Given the description of an element on the screen output the (x, y) to click on. 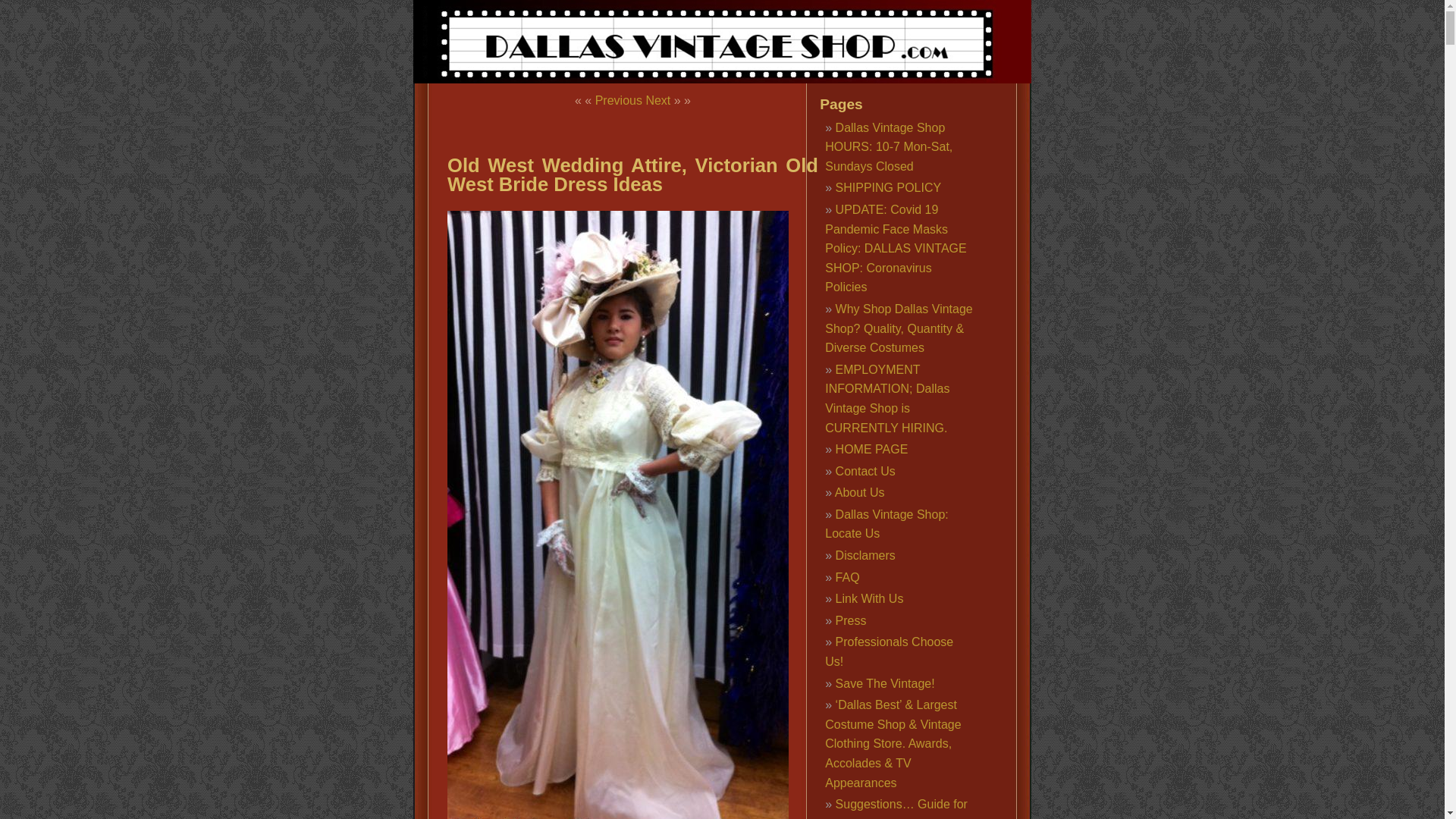
Previous (618, 100)
About Us (859, 492)
FAQ (847, 576)
Next (657, 100)
Dallas Vintage Shop: Locate Us (886, 523)
Disclamers (865, 554)
Press (850, 620)
Save The Vintage! (884, 683)
HOME PAGE (871, 449)
